Given the description of an element on the screen output the (x, y) to click on. 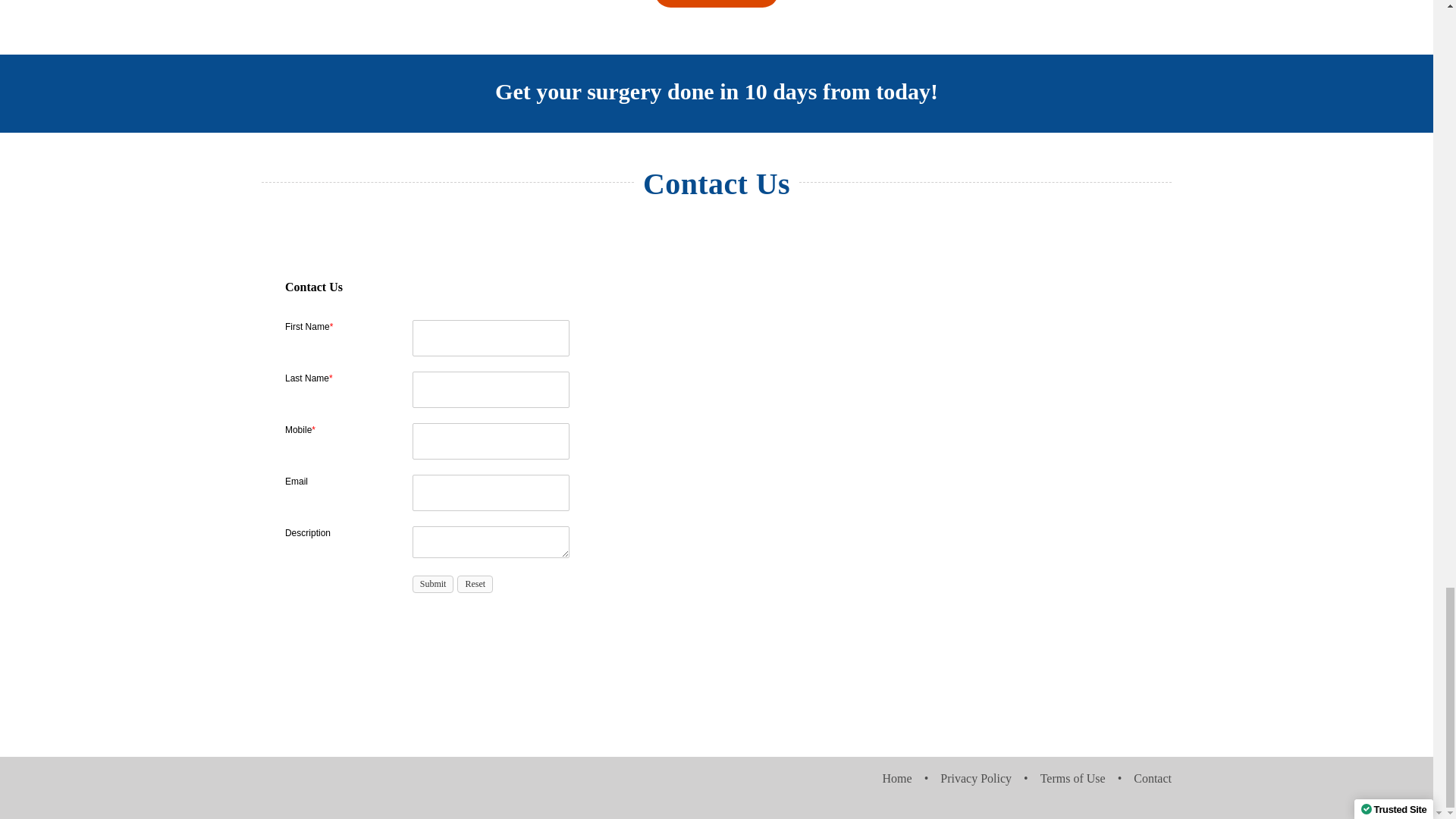
Submit (433, 583)
Submit (433, 583)
Reset (475, 583)
Reset (475, 583)
Submit (433, 583)
LEARN MORE (715, 3)
Home (911, 778)
